Given the description of an element on the screen output the (x, y) to click on. 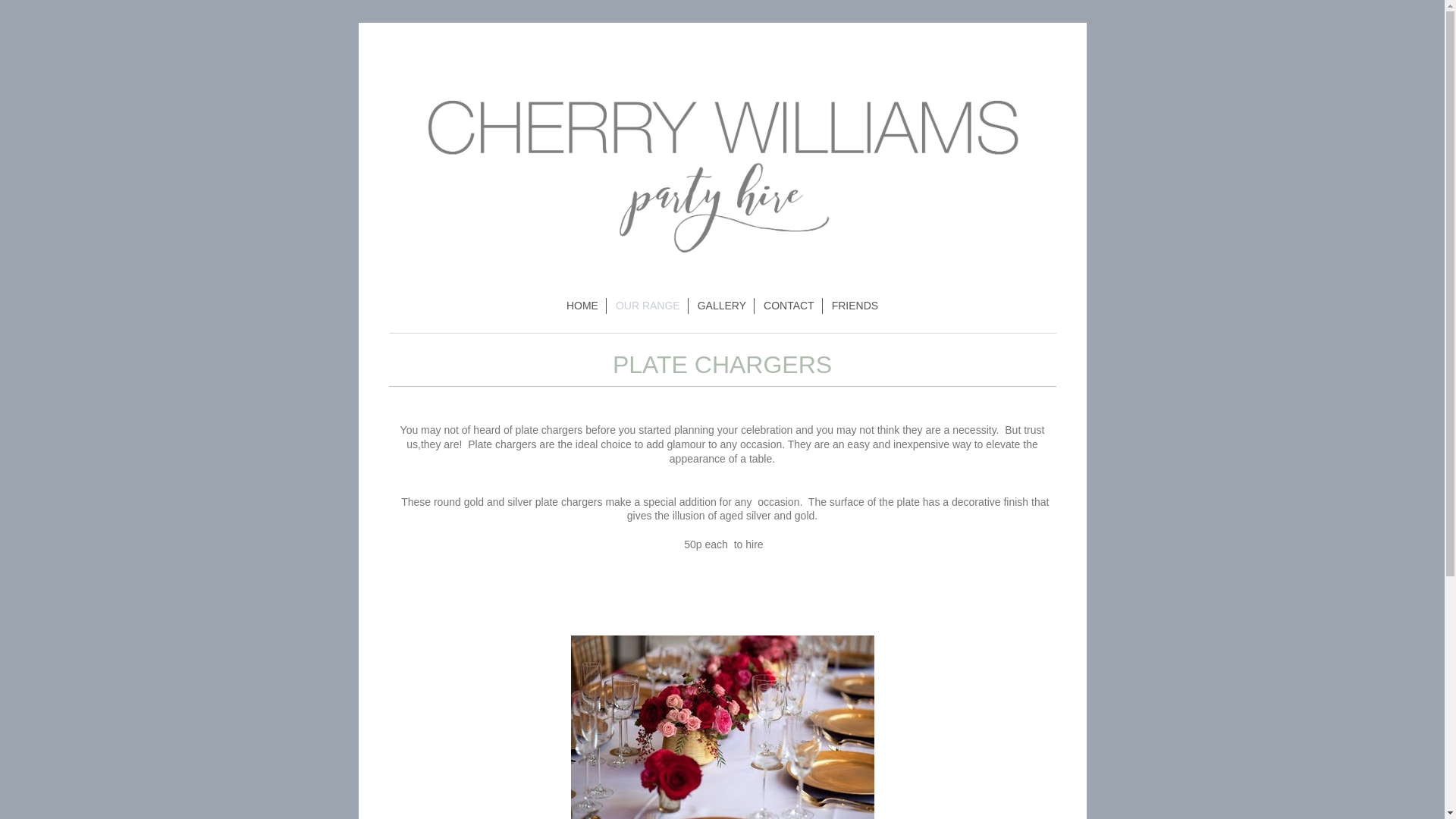
OUR RANGE (648, 305)
FRIENDS (854, 305)
GALLERY (722, 305)
CONTACT (788, 305)
HOME (583, 305)
